Given the description of an element on the screen output the (x, y) to click on. 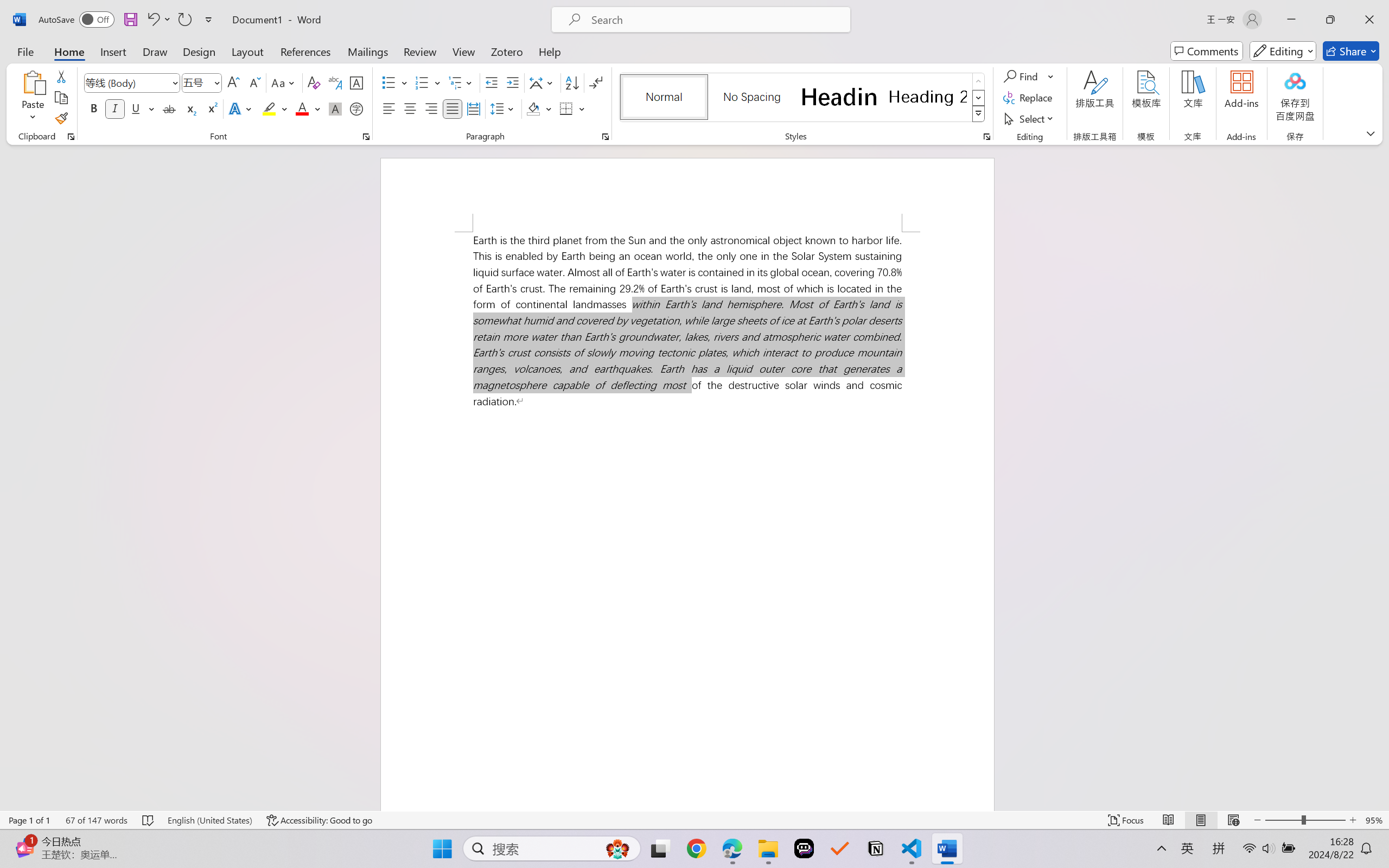
Styles (978, 113)
Show/Hide Editing Marks (595, 82)
Repeat Italic (184, 19)
Font Color Red (302, 108)
Microsoft search (715, 19)
Text Highlight Color (274, 108)
Shading (539, 108)
